Given the description of an element on the screen output the (x, y) to click on. 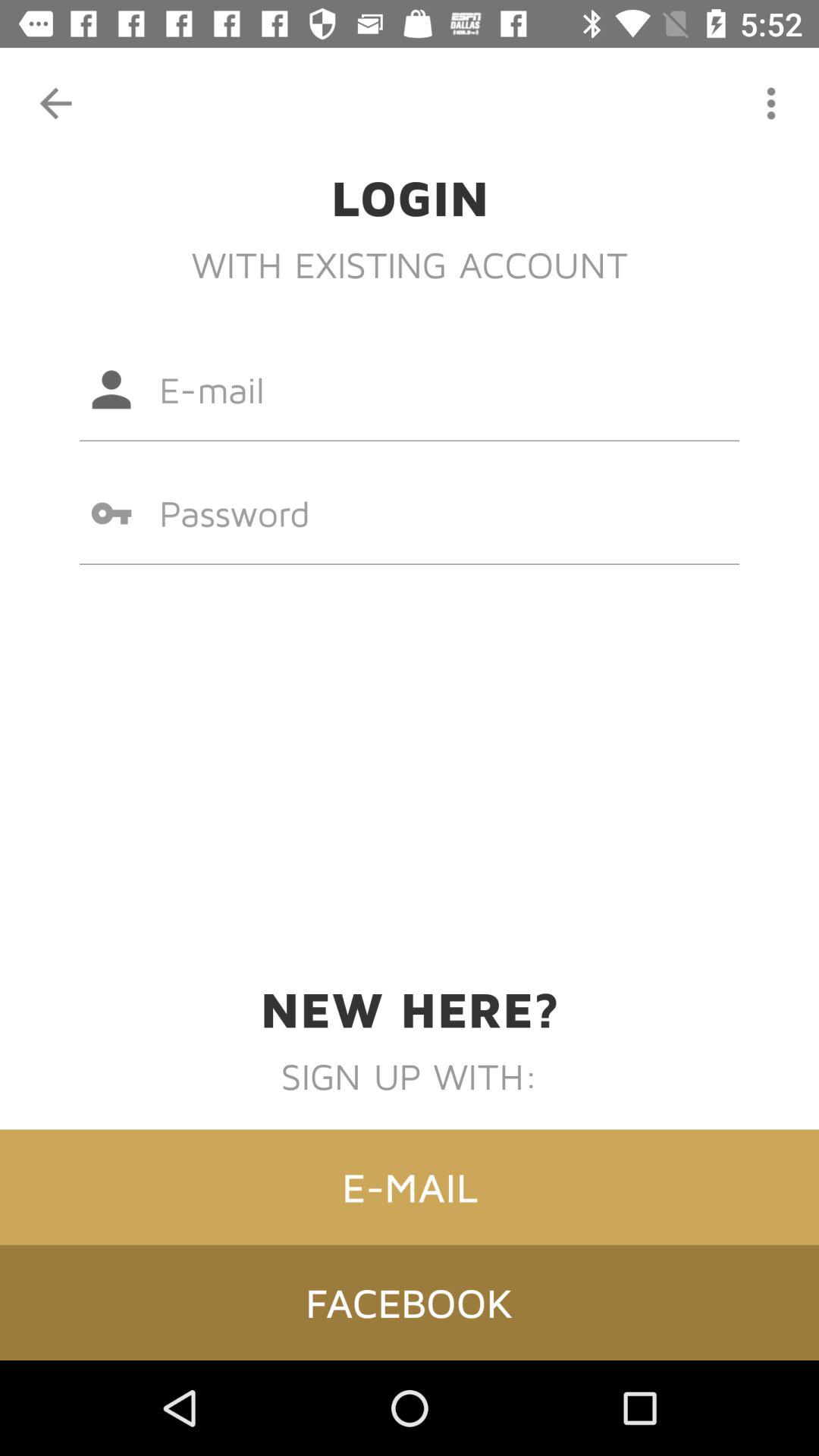
jump to the facebook (409, 1302)
